Given the description of an element on the screen output the (x, y) to click on. 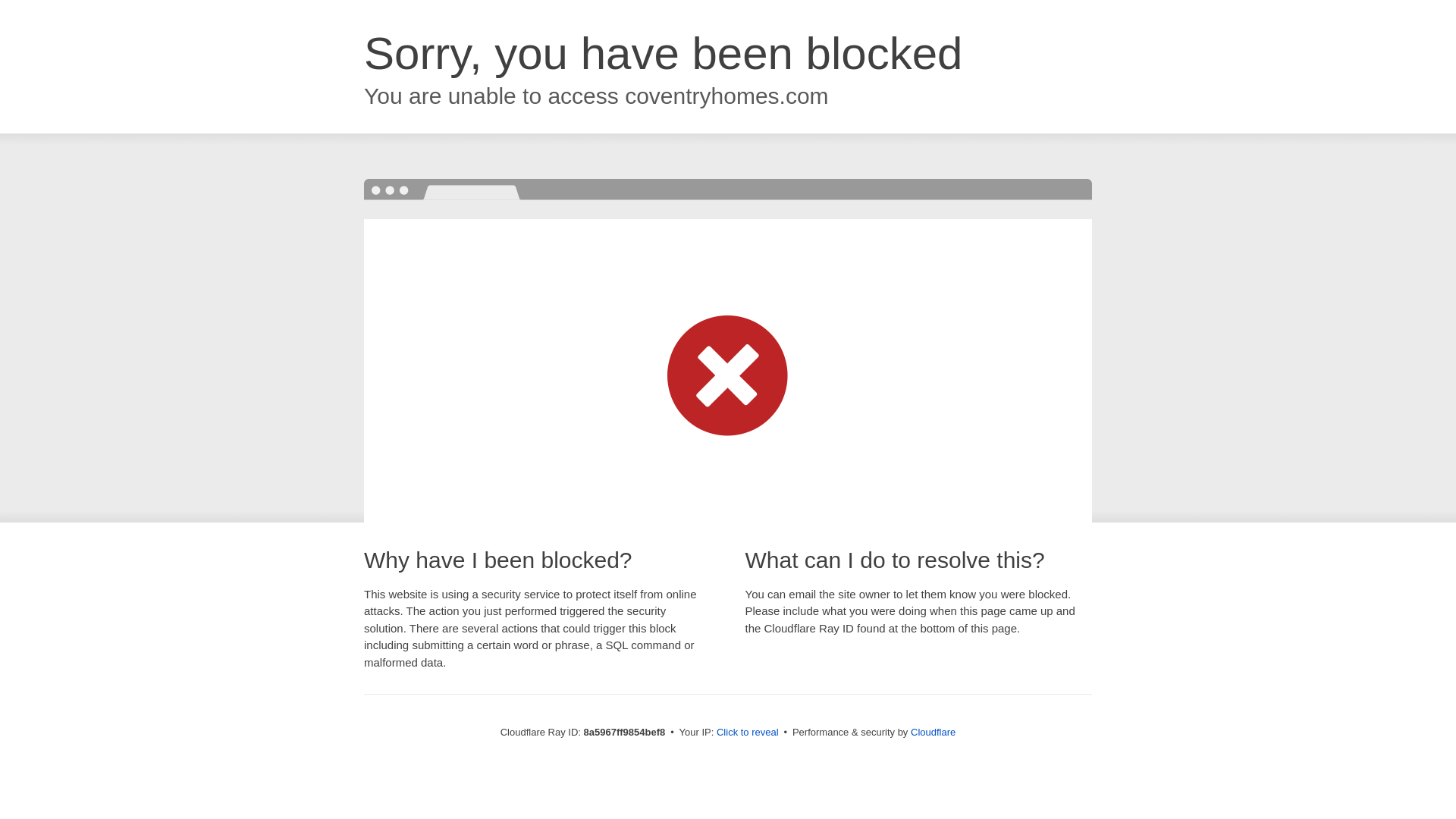
Click to reveal (747, 732)
Cloudflare (933, 731)
